Given the description of an element on the screen output the (x, y) to click on. 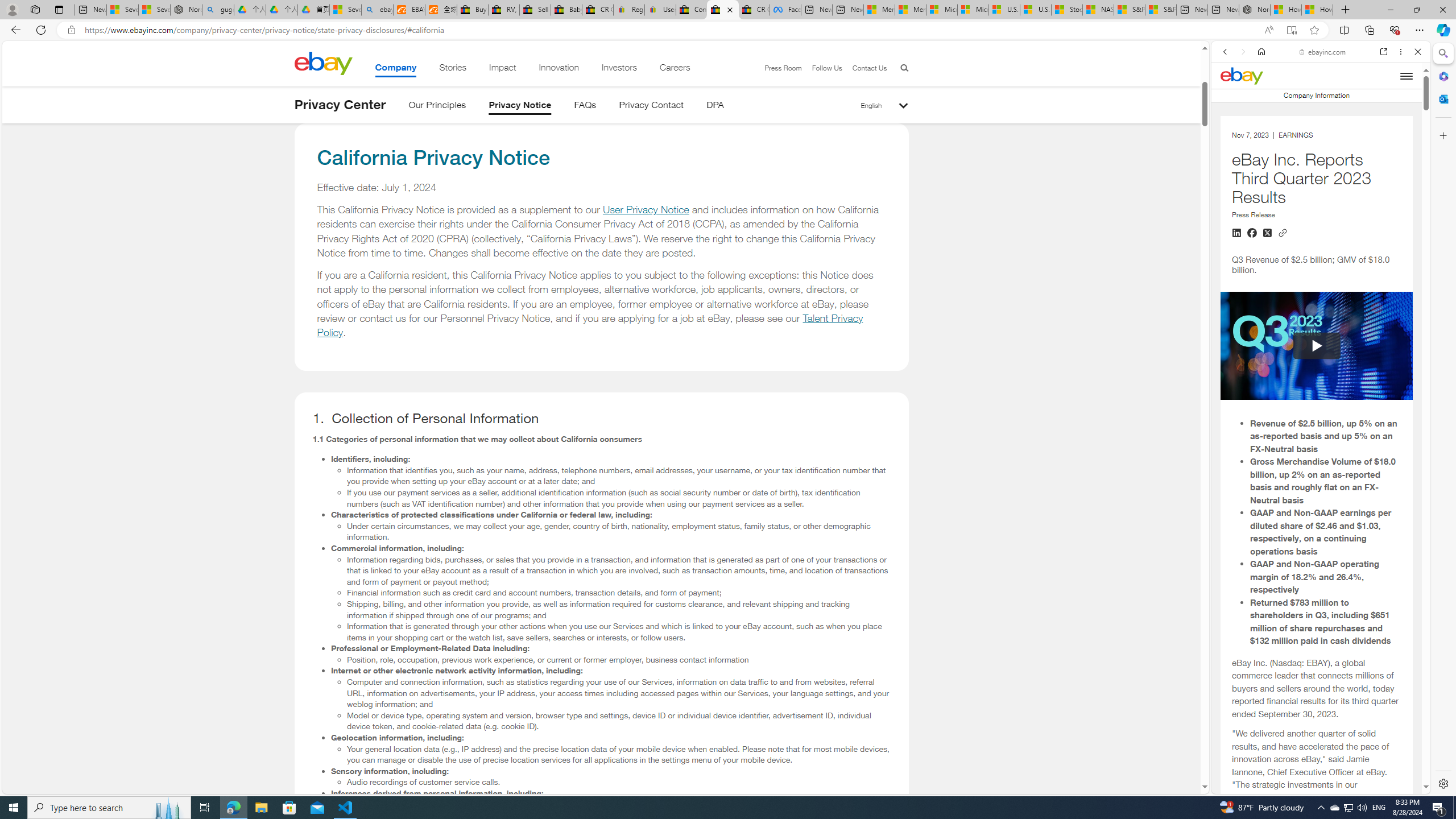
including vs included (1315, 690)
includes meaning (1315, 792)
guge yunpan - Search (218, 9)
is including a word (1315, 716)
Copy link to clipboard (1282, 232)
Outlook (1442, 98)
FAQs (584, 107)
